Given the description of an element on the screen output the (x, y) to click on. 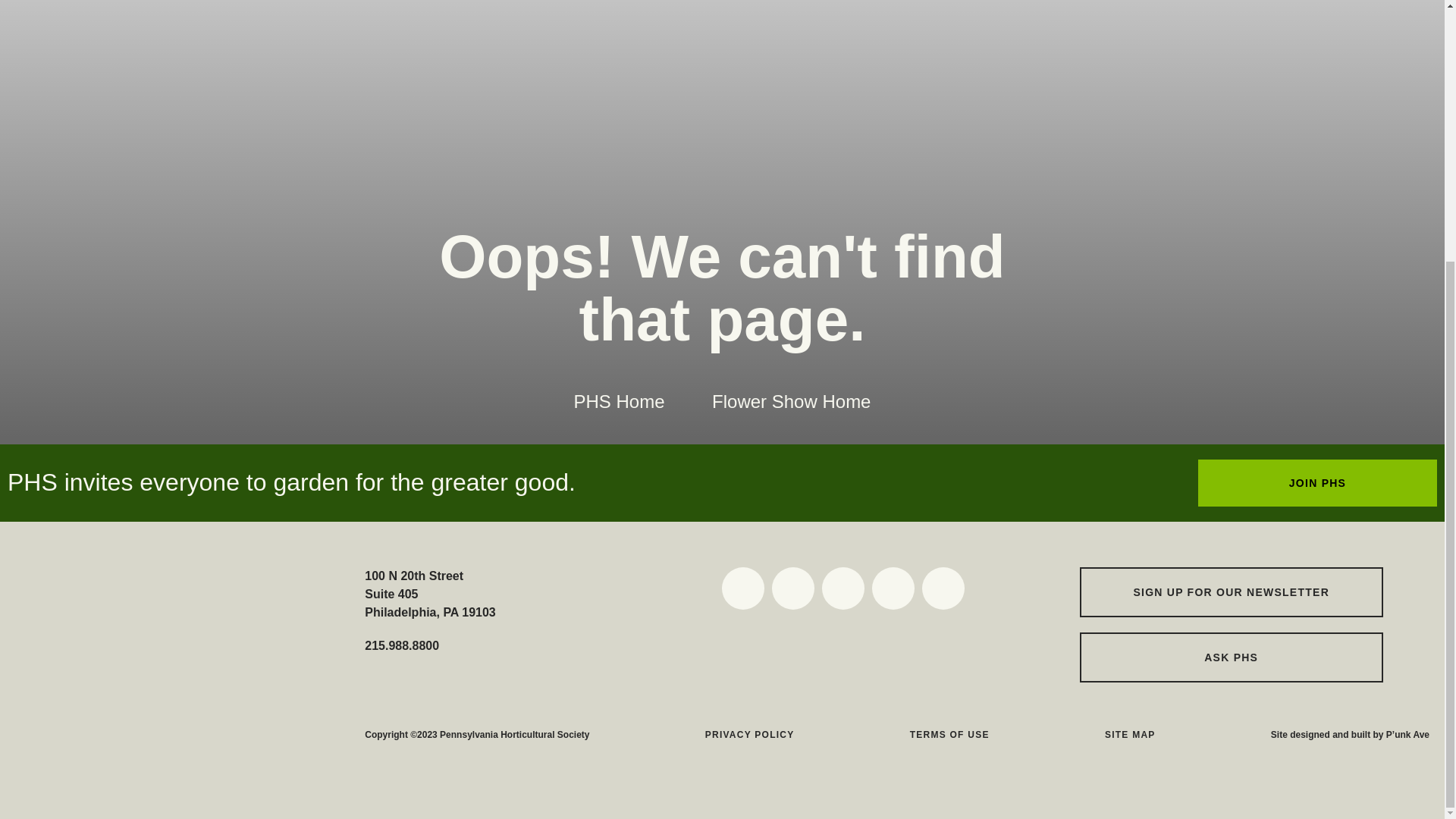
PHS Home (619, 401)
Flower Show Home (790, 401)
JOIN PHS (1317, 482)
